Given the description of an element on the screen output the (x, y) to click on. 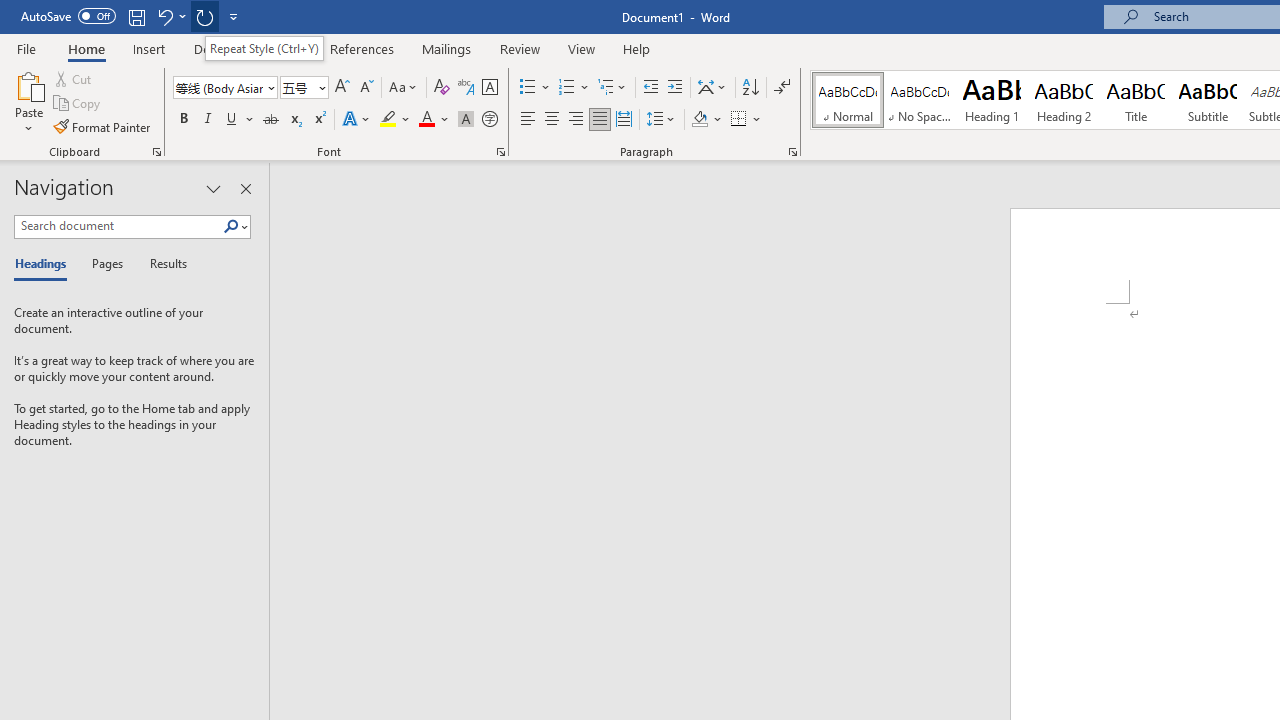
Results (161, 264)
Numbering (566, 87)
References (362, 48)
Font (224, 87)
More Options (757, 119)
Numbering (573, 87)
Borders (746, 119)
Cut (73, 78)
View (582, 48)
Phonetic Guide... (465, 87)
Quick Access Toolbar (131, 16)
Copy (78, 103)
Text Highlight Color (395, 119)
Text Effects and Typography (357, 119)
